Given the description of an element on the screen output the (x, y) to click on. 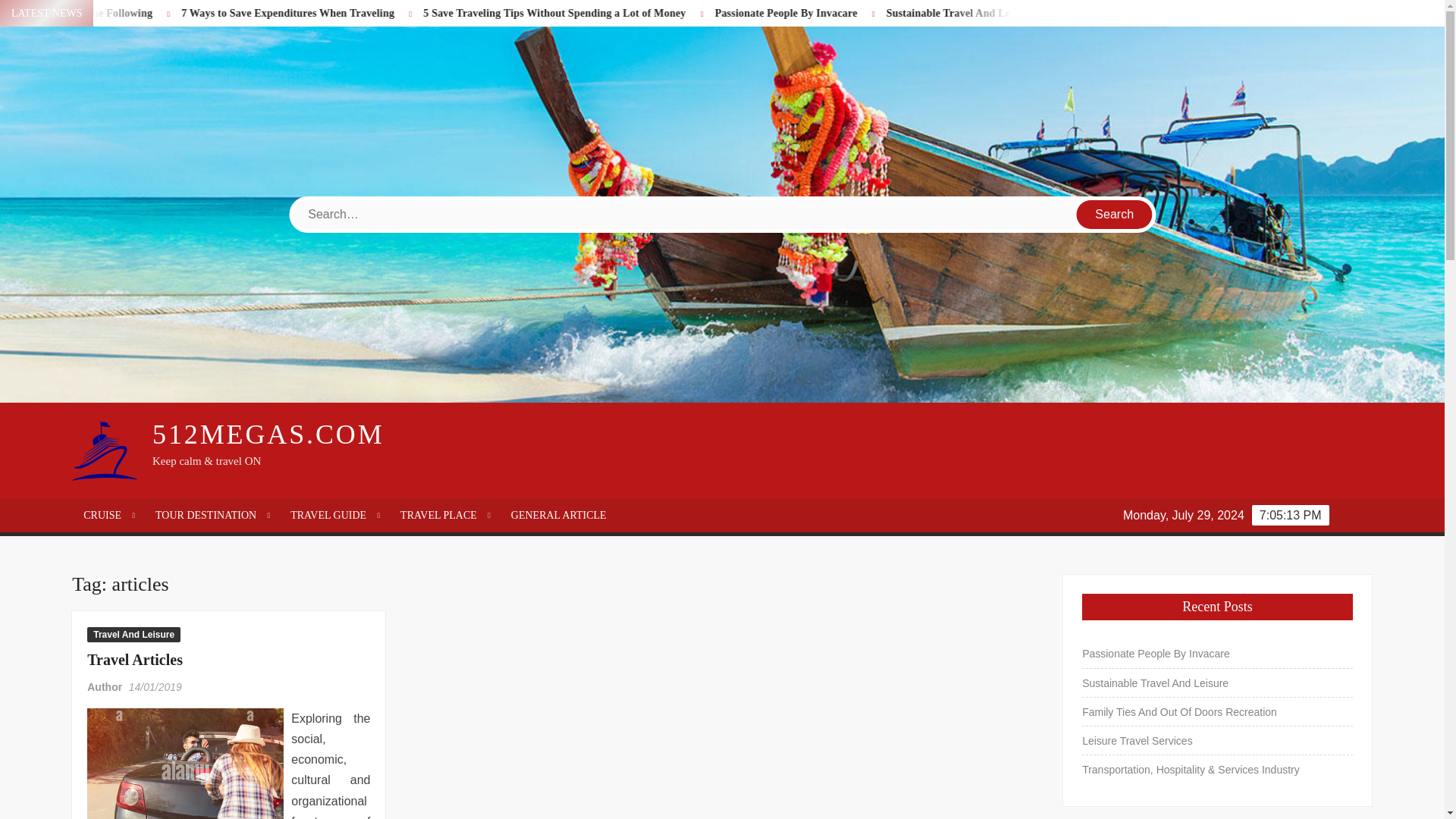
Search (1115, 214)
Sustainable Travel And Leisure (1032, 12)
Want to Vacation with Pets? Consider Some of the Following (116, 12)
Passionate People By Invacare (876, 12)
7 Ways to Save Expenditures When Traveling (366, 12)
Passionate People By Invacare (861, 12)
5 Save Traveling Tips Without Spending a Lot of Money (646, 12)
7 Ways to Save Expenditures When Traveling (381, 12)
5 Save Traveling Tips Without Spending a Lot of Money (631, 12)
Want to Vacation with Pets? Consider Some of the Following (123, 12)
Sustainable Travel And Leisure (1047, 12)
Search (1115, 214)
